Given the description of an element on the screen output the (x, y) to click on. 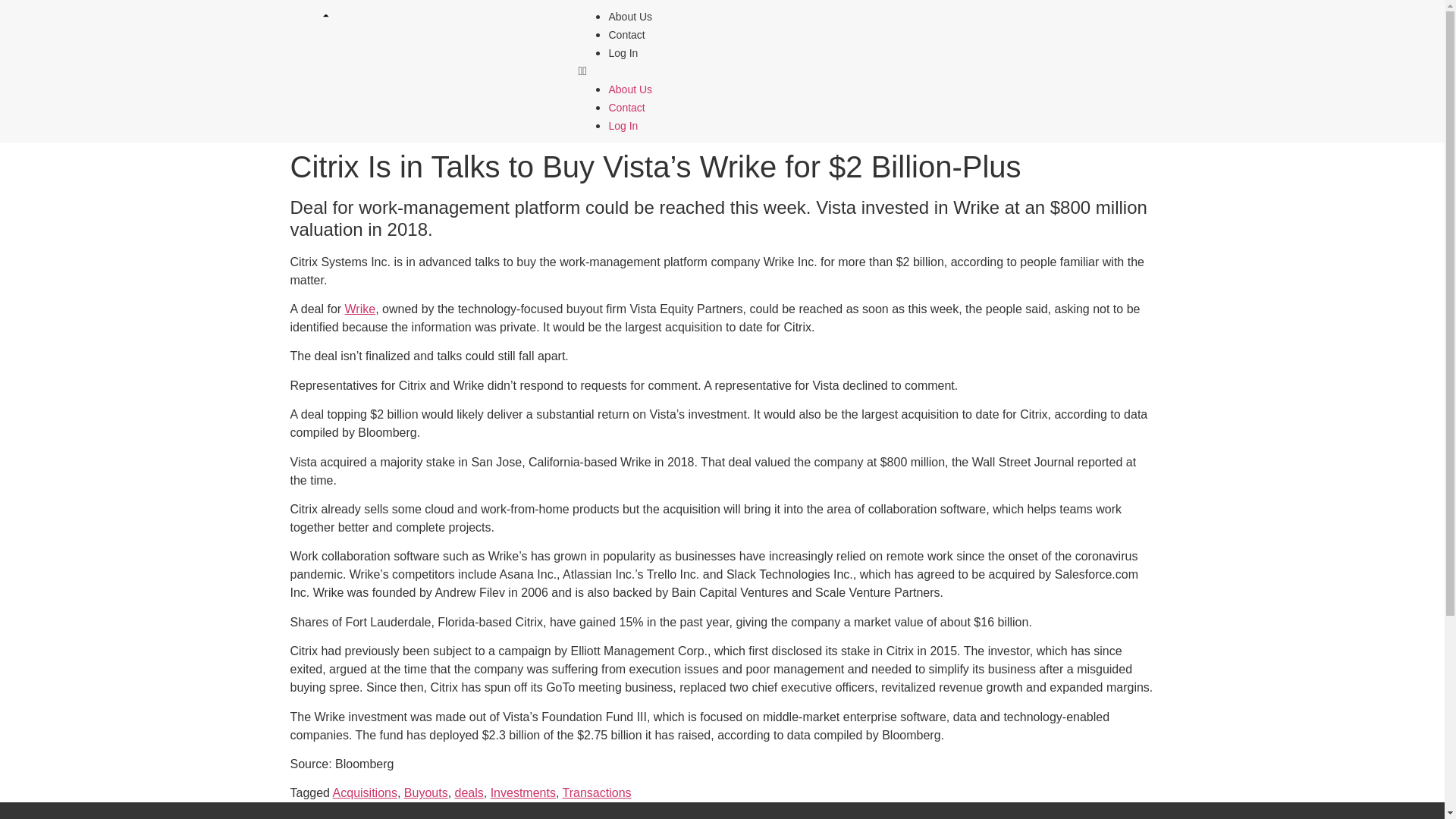
deals (468, 792)
Investments (523, 792)
Log In (622, 52)
Transactions (596, 792)
Wrike (360, 308)
About Us (630, 16)
Contact (626, 34)
Contact (626, 107)
Log In (622, 125)
About Us (630, 89)
